Given the description of an element on the screen output the (x, y) to click on. 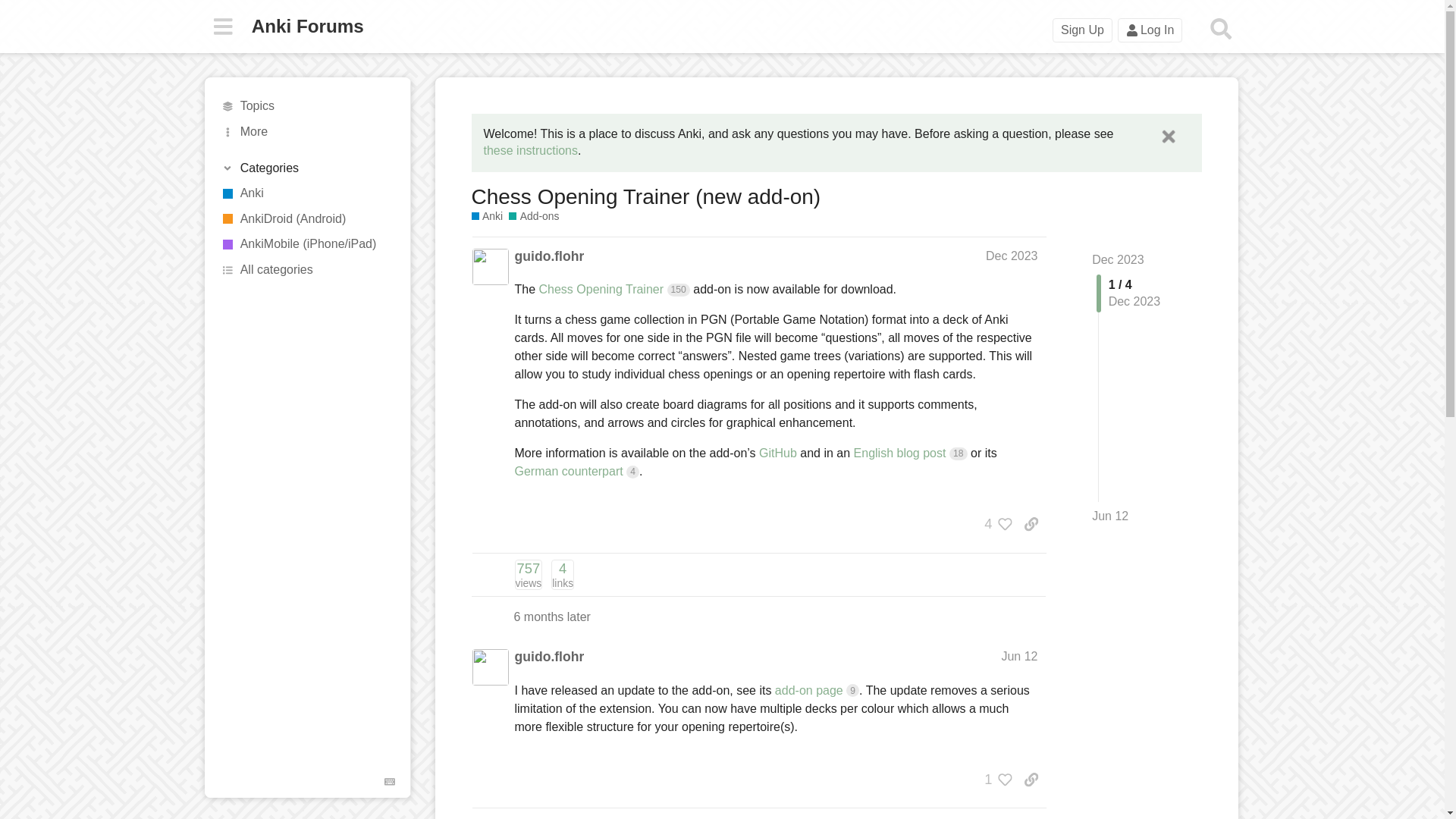
add-on page 9 (816, 689)
GitHub (777, 452)
18 clicks (958, 453)
German counterpart 4 (576, 471)
150 clicks (678, 289)
Dec 2023 (1118, 259)
Topics (527, 574)
Categories (307, 106)
Dec 2023 (306, 167)
